Given the description of an element on the screen output the (x, y) to click on. 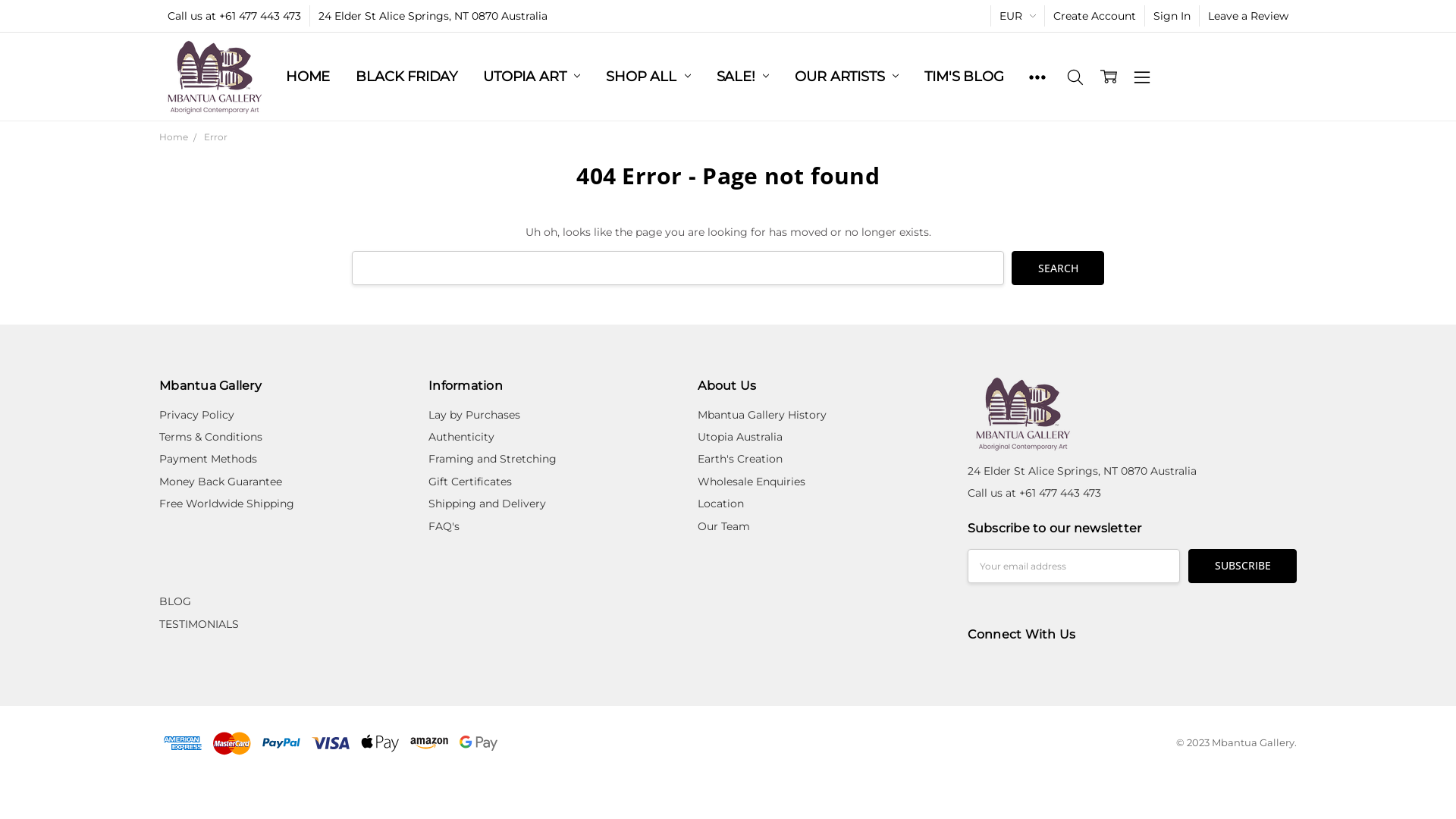
Call us at +61 477 443 473 Element type: text (1034, 492)
Mbantua Gallery History Element type: text (761, 414)
ABORIGINAL ART BLOG 2 Element type: text (372, 76)
FREE WORLDWIDE SHIPPING Element type: text (388, 76)
HOME Element type: text (307, 76)
TIM'S BLOG Element type: text (963, 76)
ABOUT US Element type: text (328, 76)
Mbantua Gallery Element type: hover (214, 77)
Error Element type: text (215, 136)
SHOP ALL Element type: text (647, 76)
TERMS & CONDITIONS Element type: text (369, 76)
EUR Element type: text (1017, 15)
Search Element type: text (1057, 268)
Framing and Stretching Element type: text (492, 458)
Free Worldwide Shipping Element type: text (226, 503)
Money Back Guarantee Element type: text (220, 481)
Mbantua Gallery Element type: hover (1023, 413)
24 Elder St Alice Springs, NT 0870 Australia Element type: text (432, 15)
Terms & Conditions Element type: text (210, 436)
PRIVACY POLICY Element type: text (342, 76)
SALE! Element type: text (742, 76)
Shipping and Delivery Element type: text (487, 503)
Utopia Australia Element type: text (739, 436)
Show All Element type: hover (1037, 76)
Earth's Creation Element type: text (739, 458)
CULTURAL LIBRARY Element type: text (361, 76)
Gift Certificates Element type: text (469, 481)
Sign In Element type: text (1171, 15)
Privacy Policy Element type: text (196, 414)
TESTIMONIALS Element type: text (198, 623)
Create Account Element type: text (1094, 15)
Home Element type: text (173, 136)
Subscribe Element type: text (1242, 566)
ENQUIRE TODAY Element type: text (343, 76)
Authenticity Element type: text (461, 436)
PAYMENT METHODS Element type: text (356, 76)
Call us at +61 477 443 473 Element type: text (234, 15)
BLOG Element type: text (175, 601)
Leave a Review Element type: text (1247, 15)
ABORIGINAL ART BLOG Element type: text (367, 76)
MONEY BACK GUARANTEE Element type: text (378, 76)
Lay by Purchases Element type: text (474, 414)
Payment Methods Element type: text (208, 458)
OUR ARTISTS Element type: text (846, 76)
Location Element type: text (720, 503)
BLACK FRIDAY Element type: text (406, 76)
FAQ's Element type: text (443, 526)
UTOPIA ART Element type: text (531, 76)
GLORIA Element type: text (312, 76)
CONTACT US Element type: text (329, 76)
Wholesale Enquiries Element type: text (751, 481)
Our Team Element type: text (723, 526)
